Given the description of an element on the screen output the (x, y) to click on. 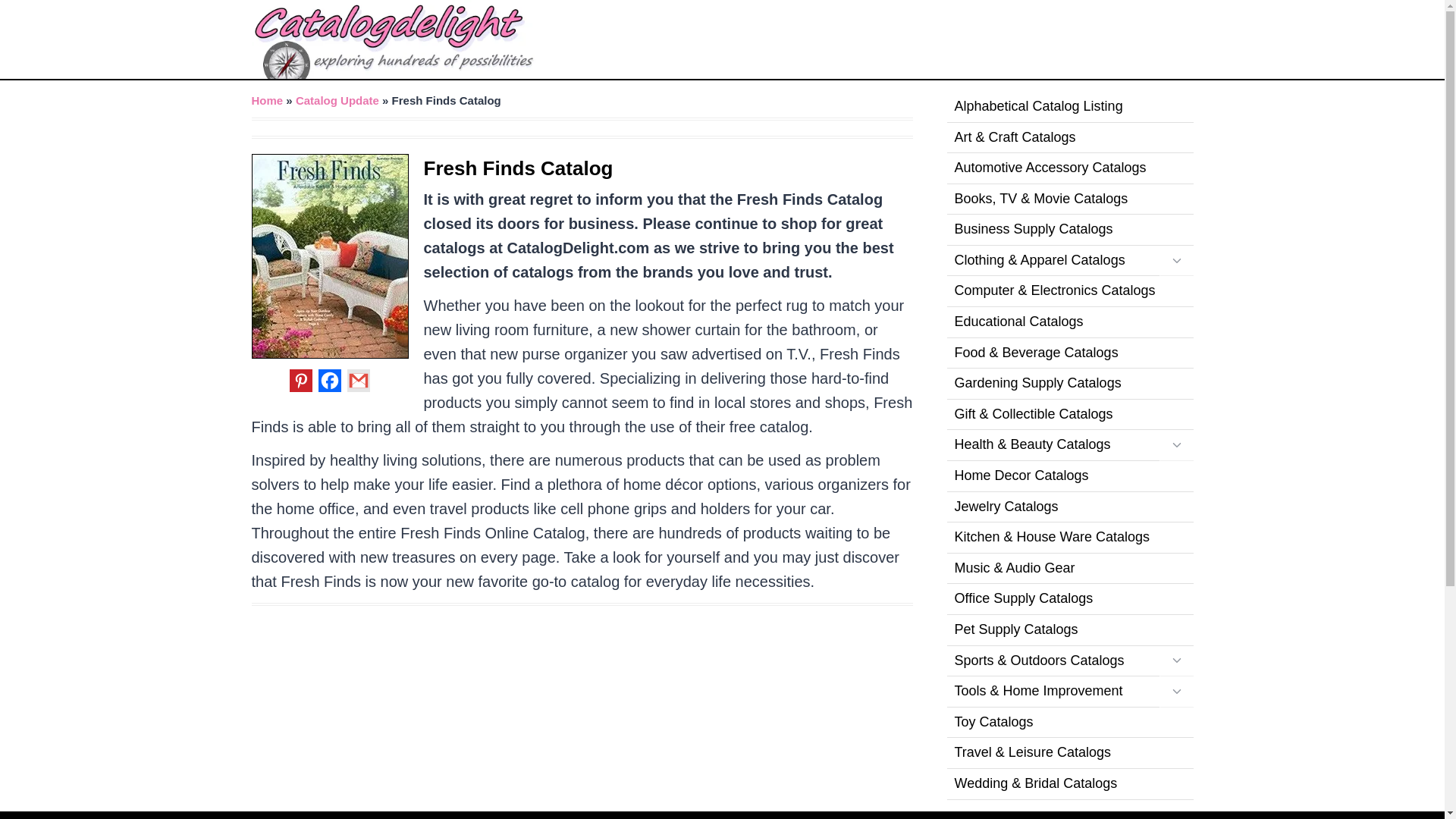
Facebook (329, 380)
Alphabetical Catalog Listing (1069, 106)
Educational Catalogs (1069, 322)
Google Gmail (358, 380)
Automotive Accessory Catalogs (1069, 168)
Gardening Supply Catalogs (1069, 383)
Catalog Update (336, 100)
Toggle child menu (1175, 445)
Jewelry Catalogs (1069, 507)
Pet Supply Catalogs (1069, 630)
